Given the description of an element on the screen output the (x, y) to click on. 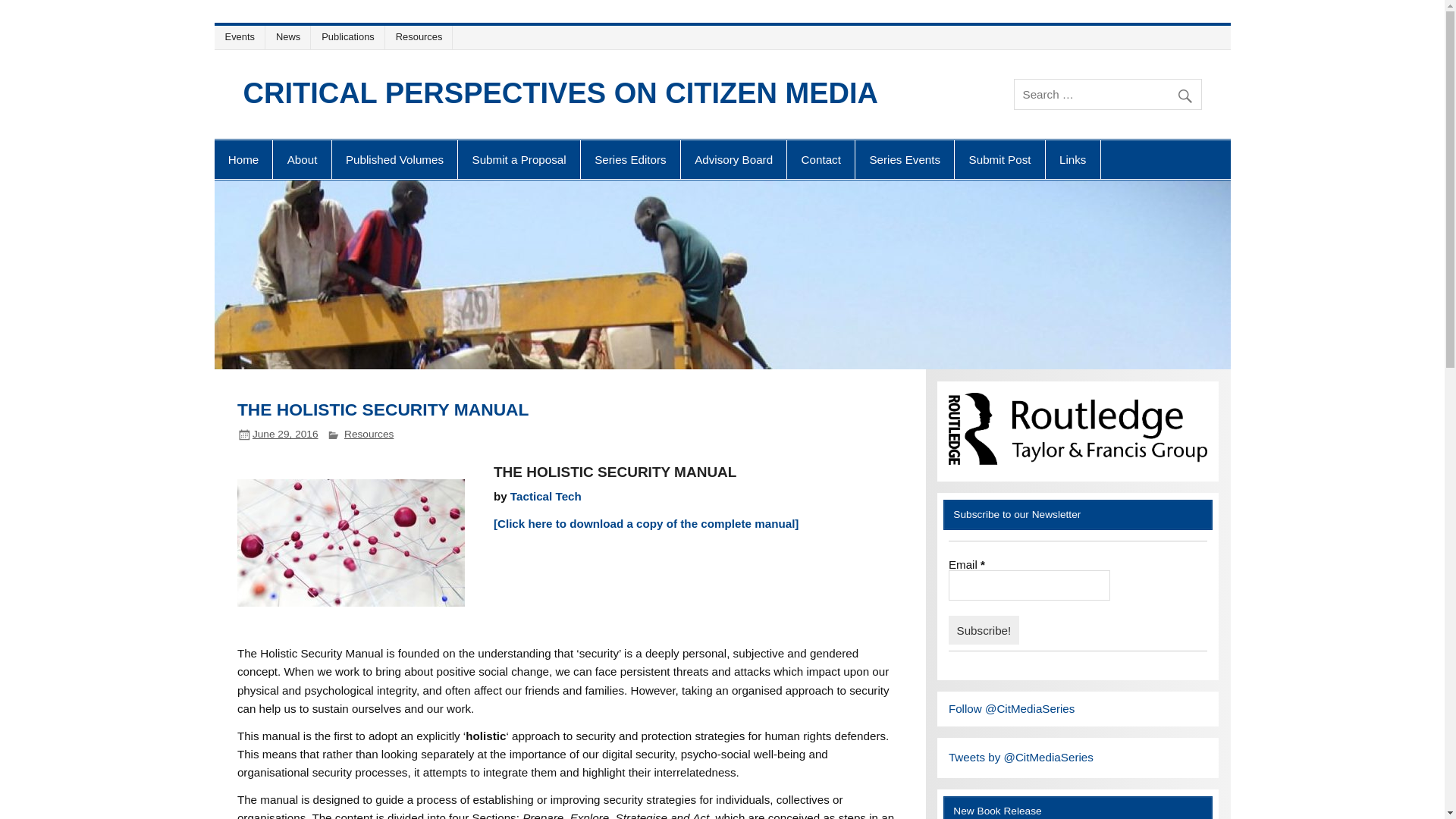
Resources (420, 37)
Events (241, 37)
Links (1072, 159)
Contact (820, 159)
CRITICAL PERSPECTIVES ON CITIZEN MEDIA (560, 92)
9:49 am (284, 433)
About (301, 159)
Advisory Board (733, 159)
Published Volumes (394, 159)
Series Events (904, 159)
Resources (368, 433)
Home (243, 159)
Subscribe! (984, 629)
Series Editors (629, 159)
News (290, 37)
